Given the description of an element on the screen output the (x, y) to click on. 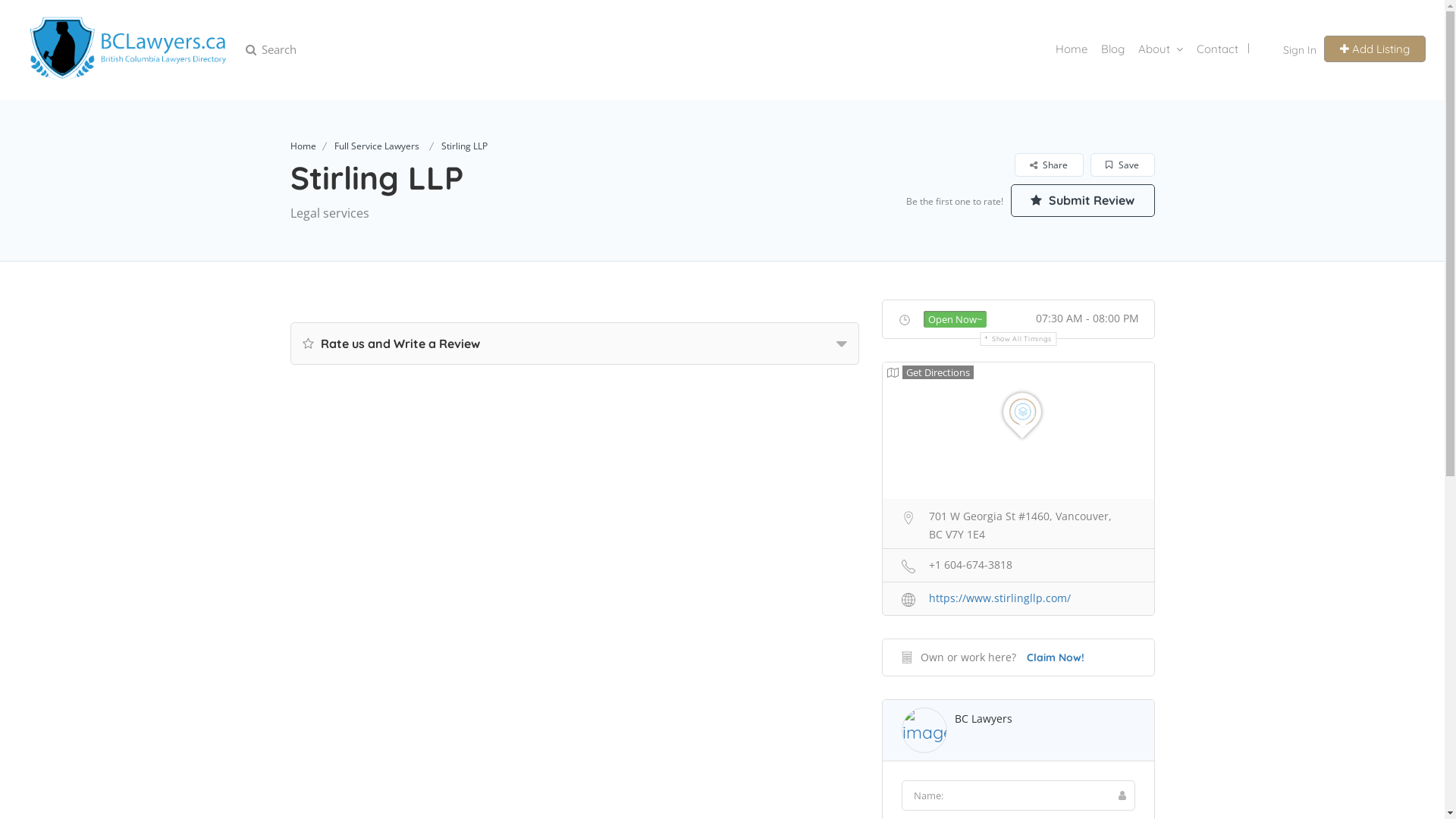
About Element type: text (1154, 47)
Share Element type: text (1047, 164)
+1 604-674-3818 Element type: text (1018, 564)
Claim your business now! Element type: text (583, 569)
Open Now~ Element type: text (954, 318)
Show All Timings Element type: text (1017, 338)
Submit Review Element type: text (1082, 200)
Submit Element type: text (414, 502)
Get Directions Element type: text (930, 372)
https://www.stirlingllp.com/ Element type: text (1018, 597)
BC Lawyers Element type: text (982, 718)
Claim Now! Element type: text (1055, 657)
Add Listing Element type: text (1374, 47)
Full Service Lawyers Element type: text (375, 145)
Home Element type: text (302, 145)
701 W Georgia St #1460, Vancouver, BC V7Y 1E4 Element type: text (1018, 522)
Contact Element type: text (1217, 47)
Home Element type: text (1071, 47)
Sign In Element type: text (1299, 49)
Save Element type: text (1120, 164)
Blog Element type: text (1112, 47)
